Given the description of an element on the screen output the (x, y) to click on. 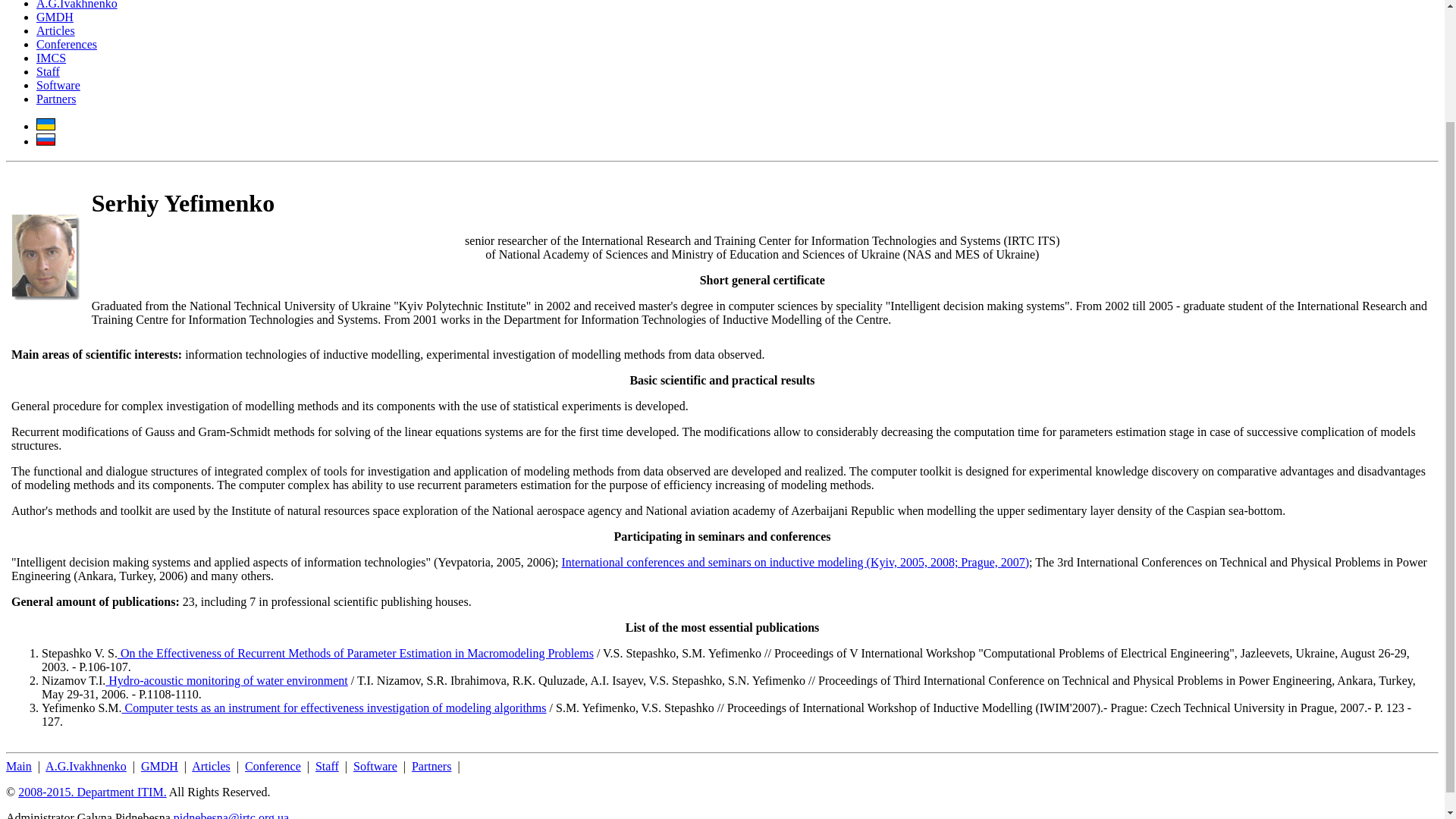
Main (18, 766)
Articles (55, 30)
Conference (272, 766)
Partners (55, 98)
Conferences (66, 43)
Software (58, 84)
Software (375, 766)
Hydro-acoustic monitoring of water environment (225, 680)
A.G.Ivakhnenko (85, 766)
IMCS (50, 57)
GMDH (159, 766)
Articles (211, 766)
GMDH (55, 16)
